Given the description of an element on the screen output the (x, y) to click on. 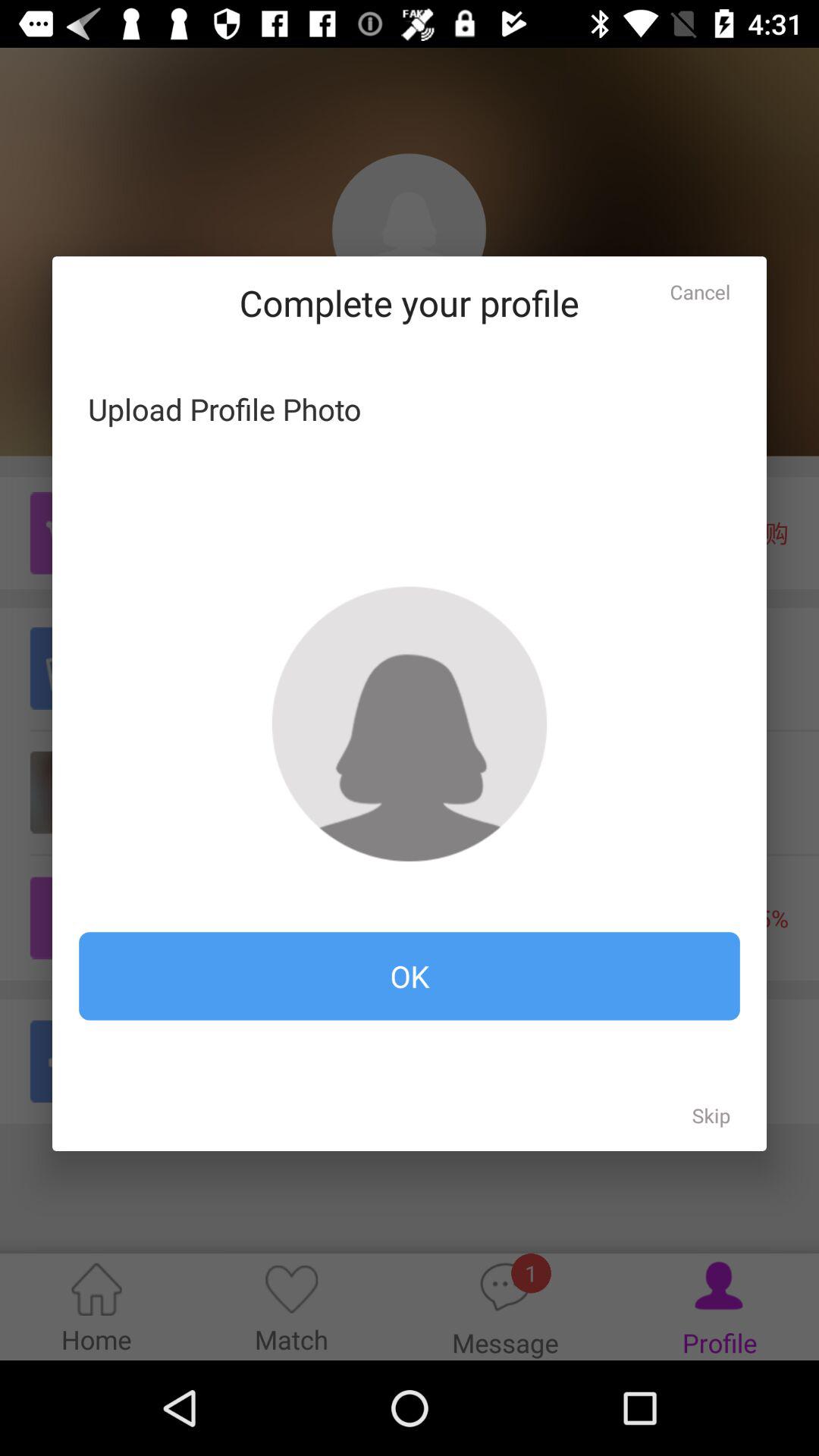
insert image (409, 723)
